Given the description of an element on the screen output the (x, y) to click on. 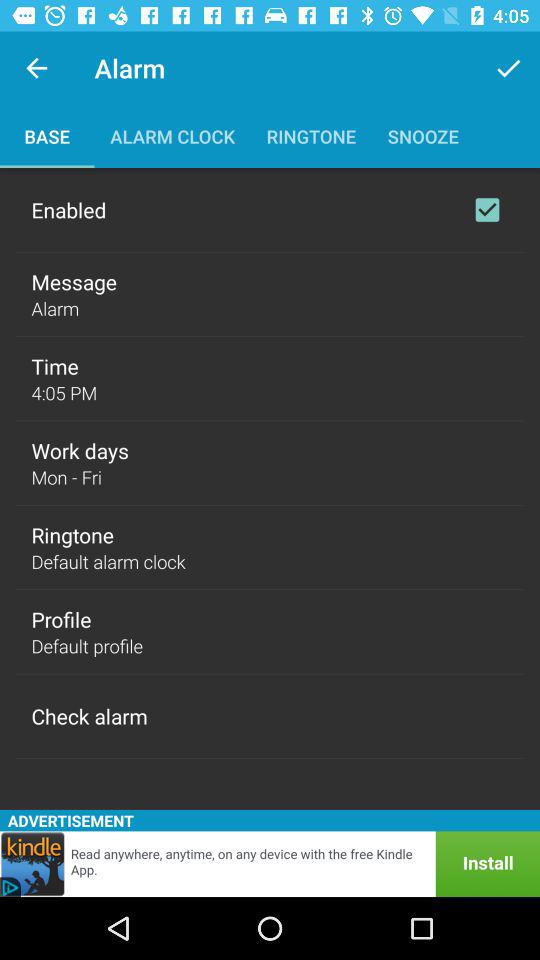
choose icon to the left of the alarm icon (36, 68)
